Given the description of an element on the screen output the (x, y) to click on. 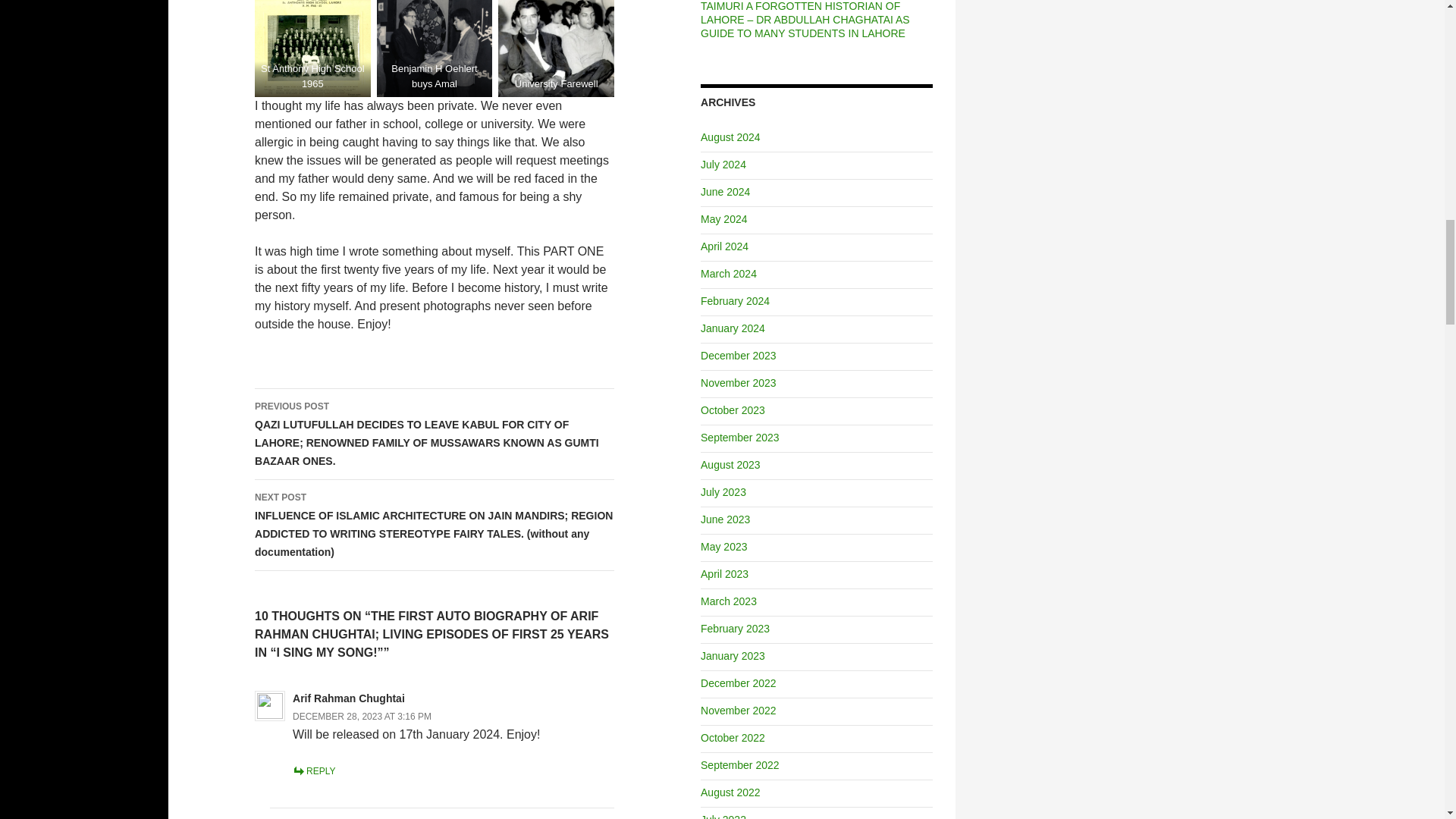
DECEMBER 28, 2023 AT 3:16 PM (361, 716)
REPLY (313, 770)
